Given the description of an element on the screen output the (x, y) to click on. 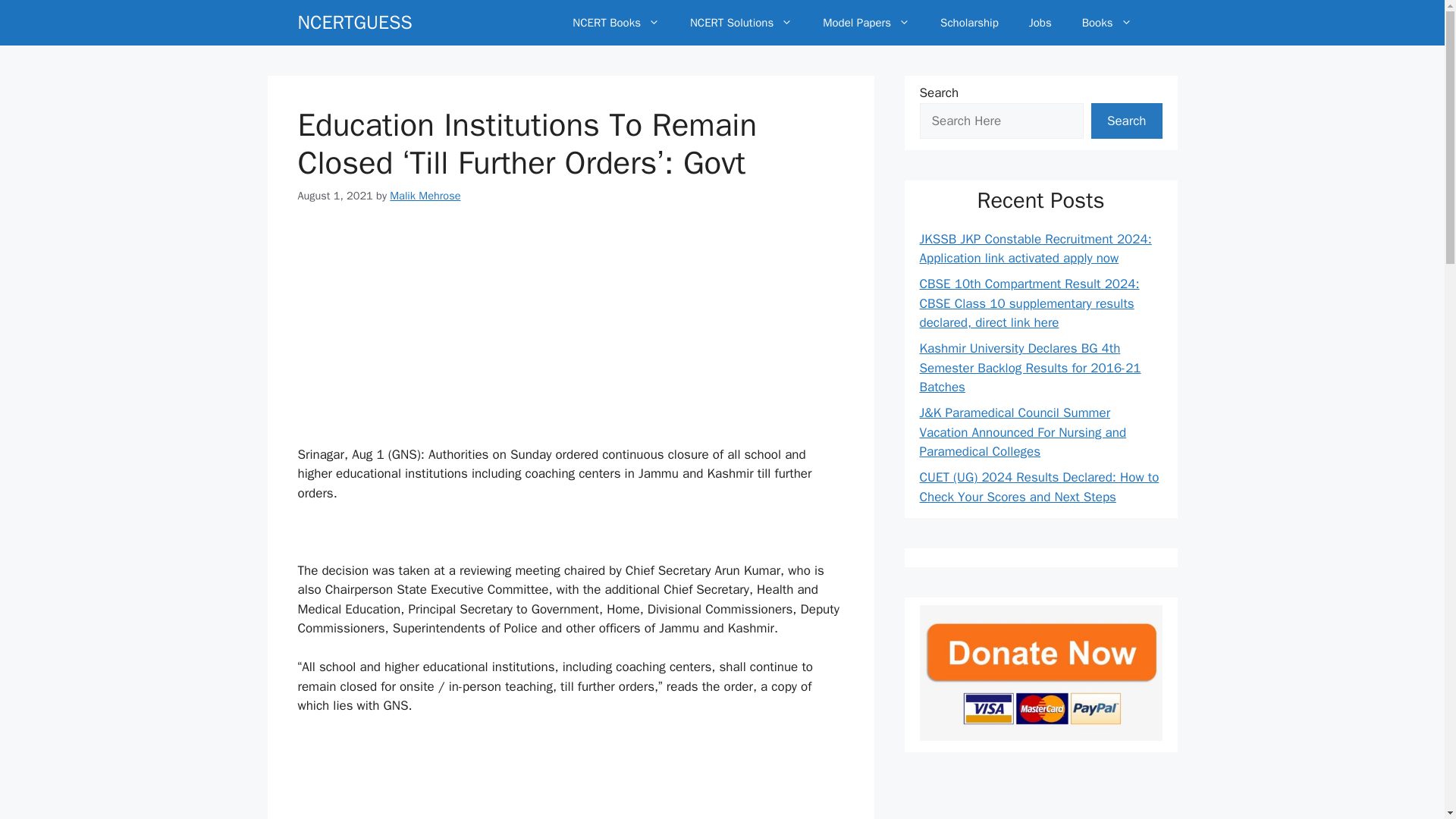
NCERT Books (616, 22)
View all posts by Malik Mehrose (425, 195)
Advertisement (570, 776)
NCERT Solutions (741, 22)
Model Papers (866, 22)
NCERTGUESS (354, 22)
Advertisement (570, 336)
